Given the description of an element on the screen output the (x, y) to click on. 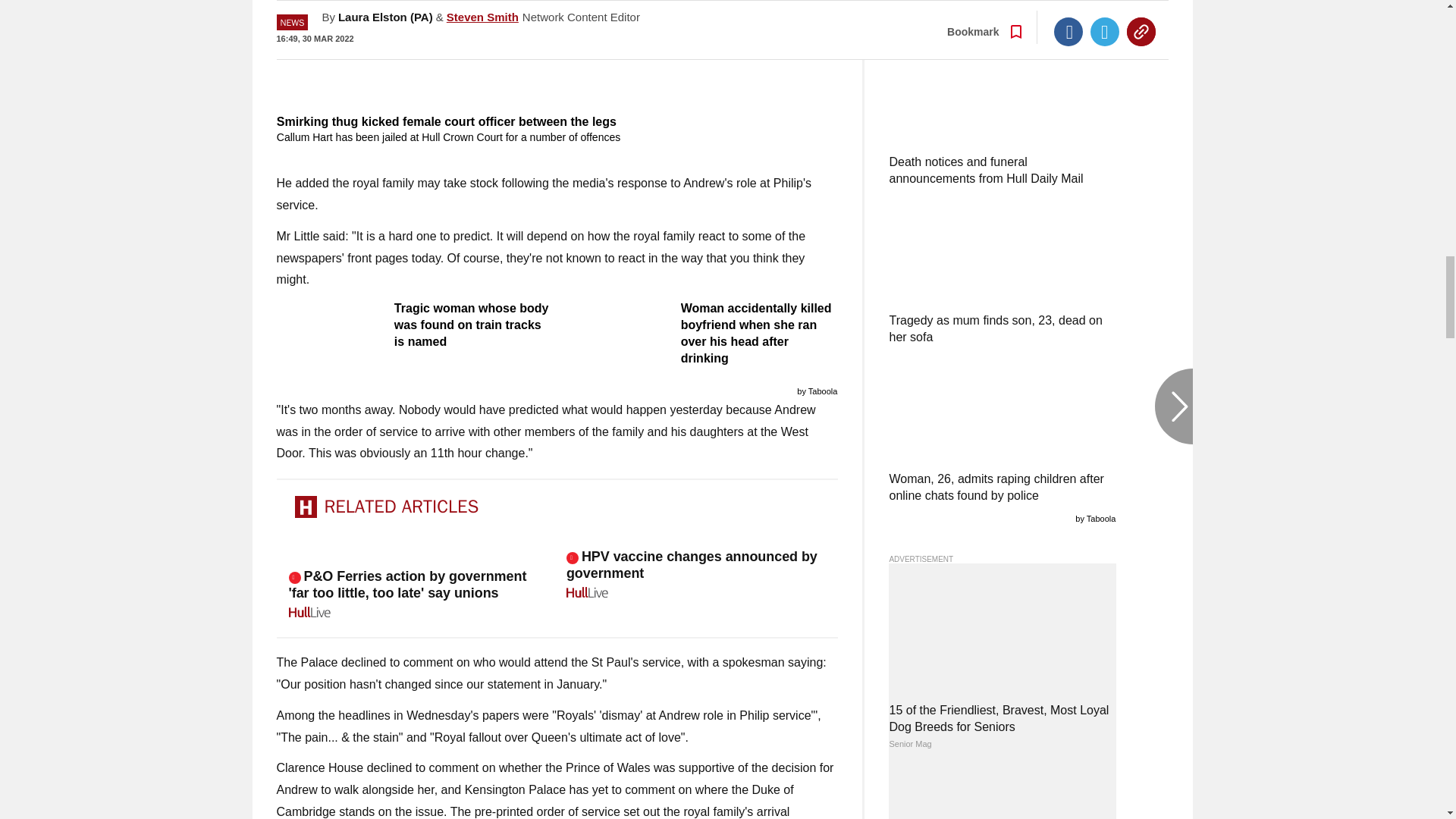
Smirking thug kicked female court officer between the legs (557, 55)
